Given the description of an element on the screen output the (x, y) to click on. 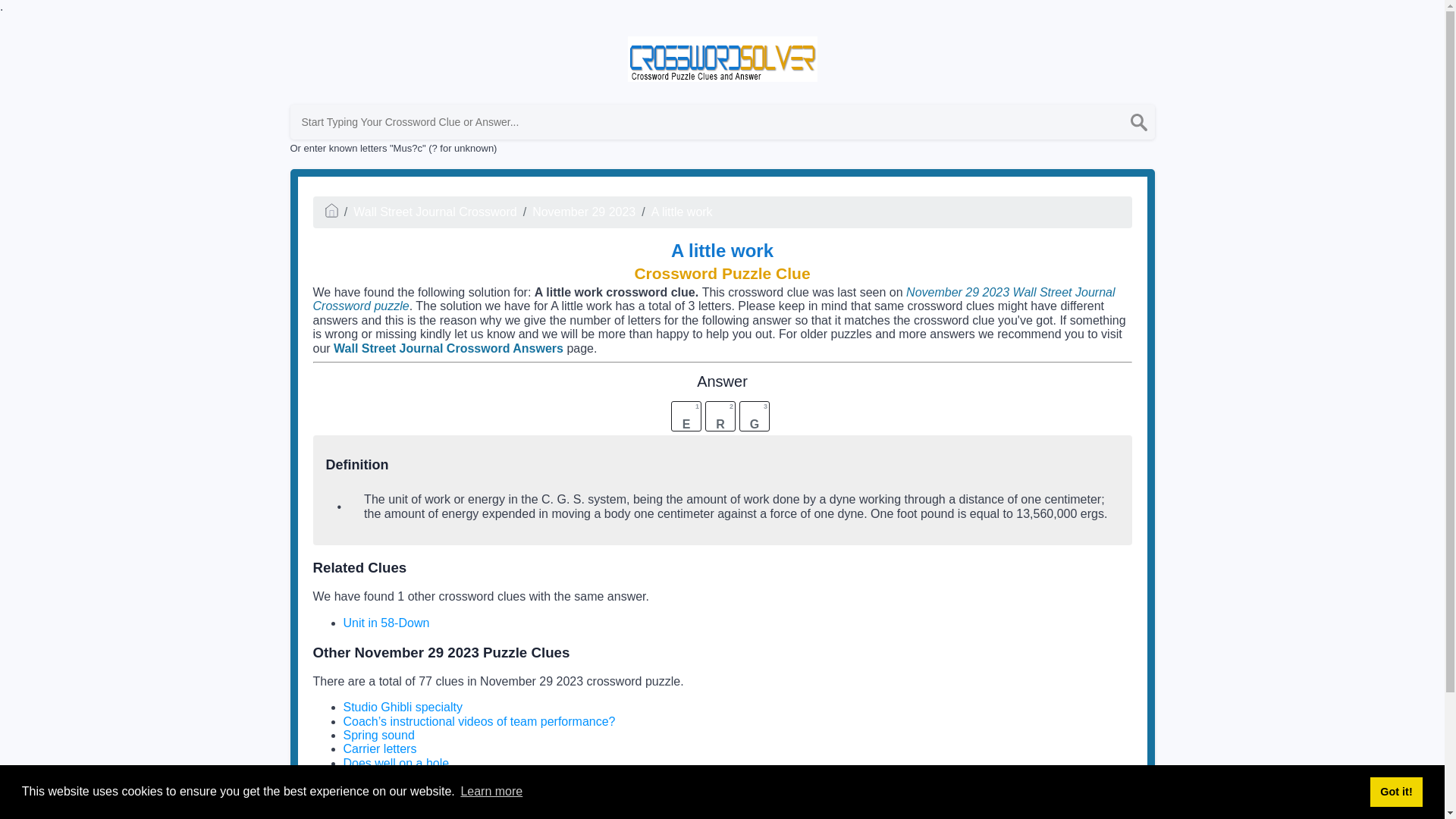
Carrier letters (379, 748)
Spring sound (377, 735)
Got it! (1396, 791)
Does well on a hole (395, 762)
Unit in 58-Down (385, 622)
A little work (681, 211)
Wall Street Journal Crossword November 29 2023 Answers (719, 795)
November 29 2023 Wall Street Journal Crossword puzzle (714, 298)
Learn more (491, 791)
Studio Ghibli specialty (401, 707)
